Given the description of an element on the screen output the (x, y) to click on. 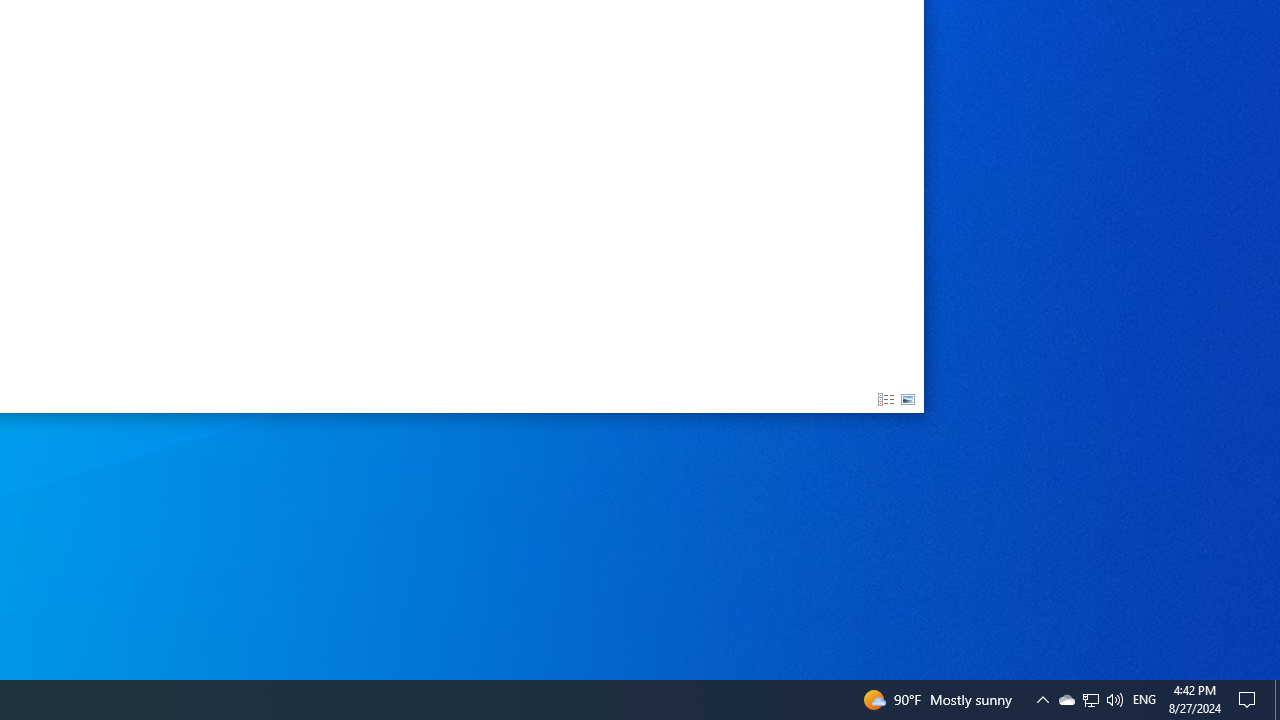
Details (886, 399)
Large Icons (908, 399)
